Given the description of an element on the screen output the (x, y) to click on. 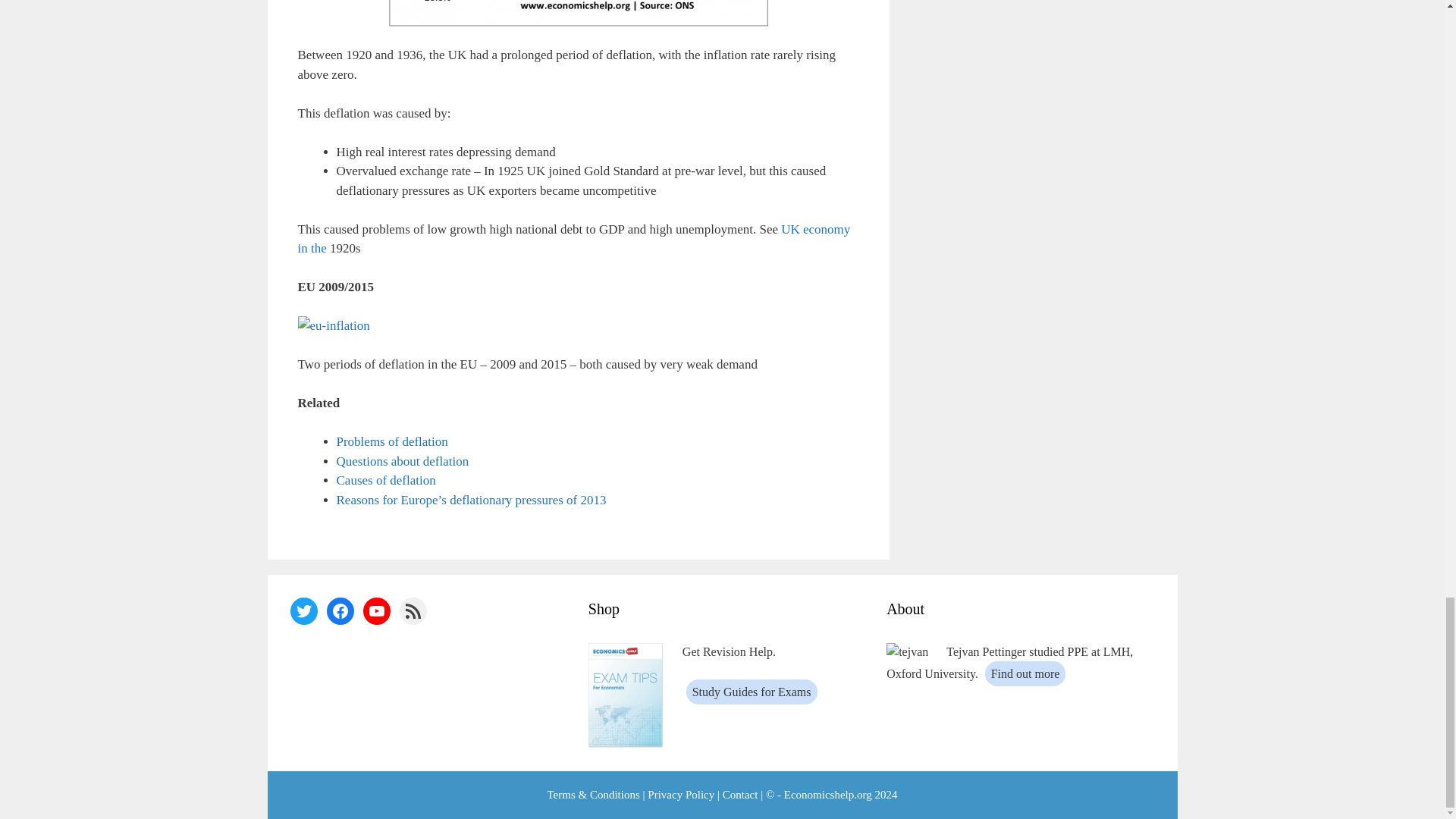
Problems of deflation (392, 441)
Questions about deflation (402, 461)
UK economy in the (573, 238)
1914-38-inflationUK (577, 13)
Causes of deflation (385, 480)
